Given the description of an element on the screen output the (x, y) to click on. 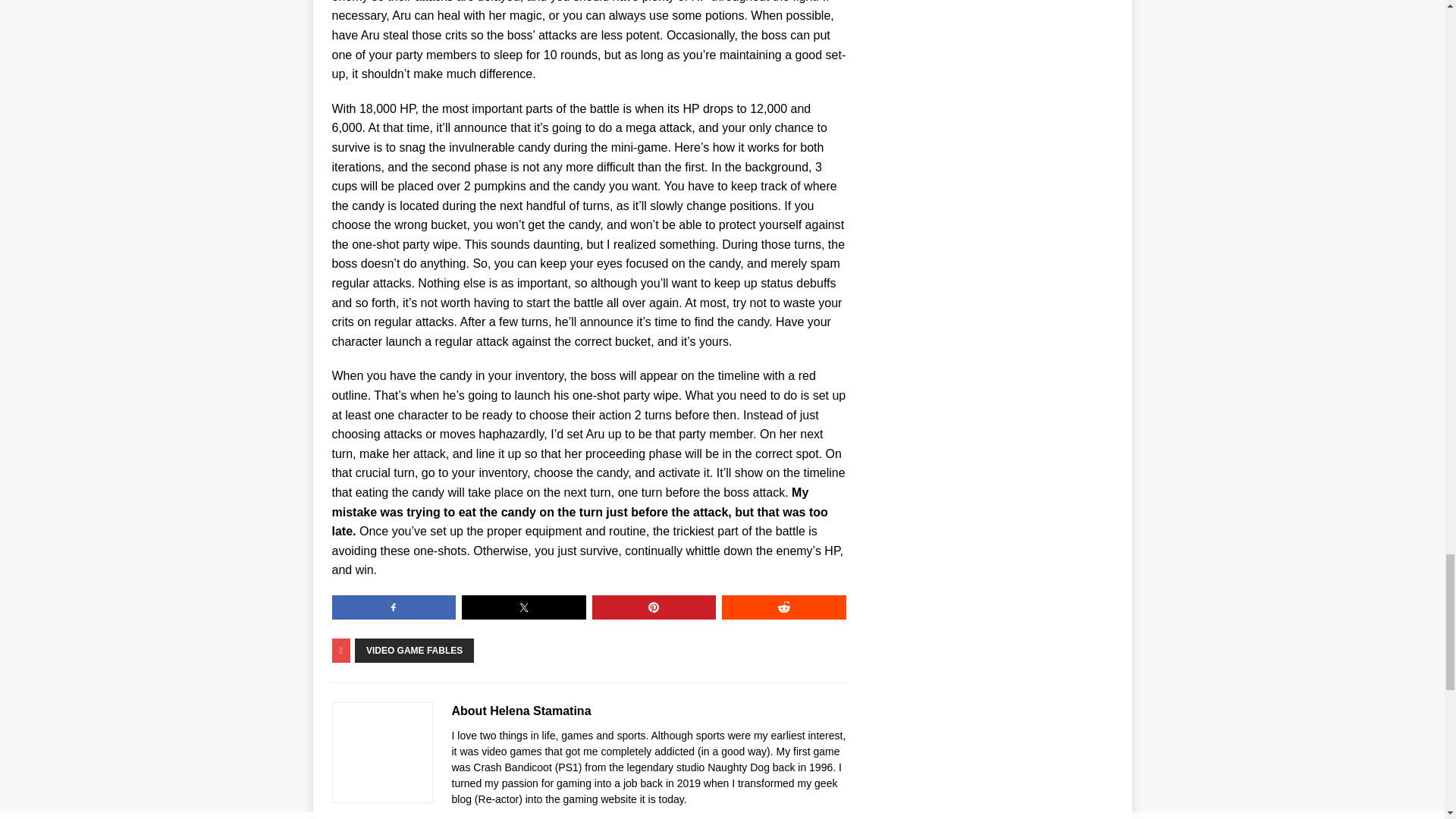
VIDEO GAME FABLES (414, 650)
